Given the description of an element on the screen output the (x, y) to click on. 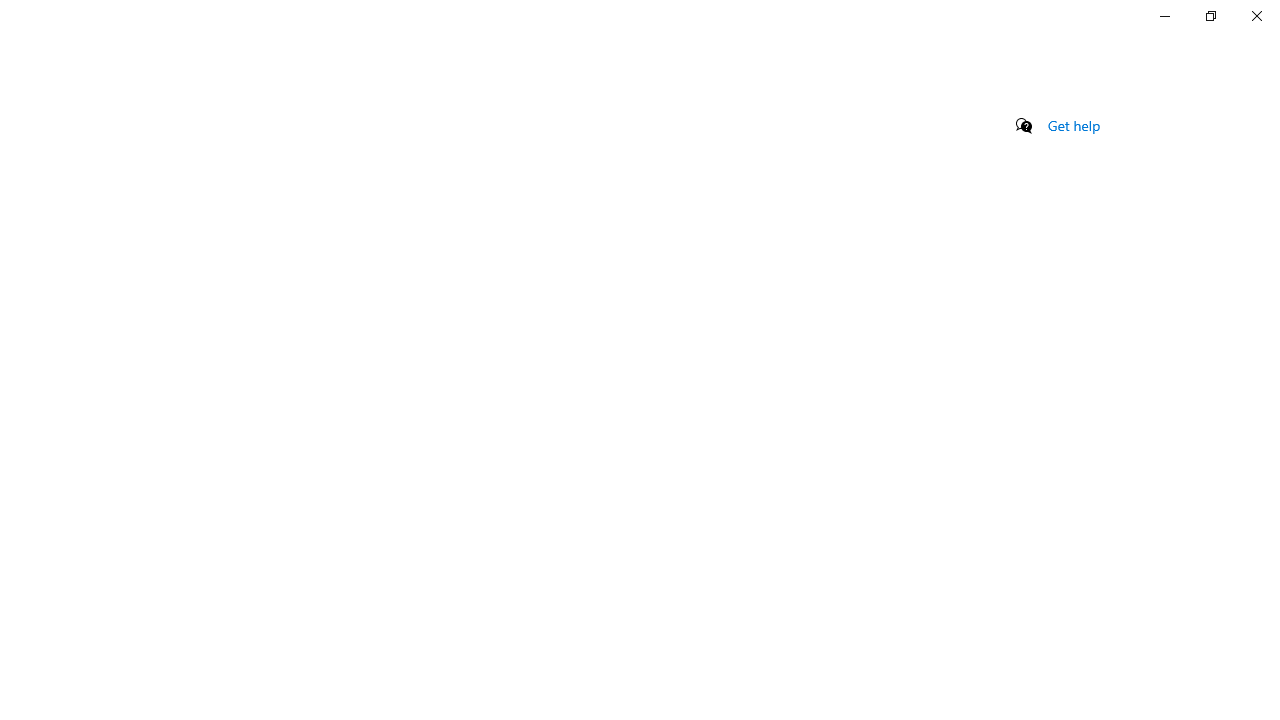
Close Settings (1256, 15)
Restore Settings (1210, 15)
Get help (1074, 125)
Minimize Settings (1164, 15)
